Given the description of an element on the screen output the (x, y) to click on. 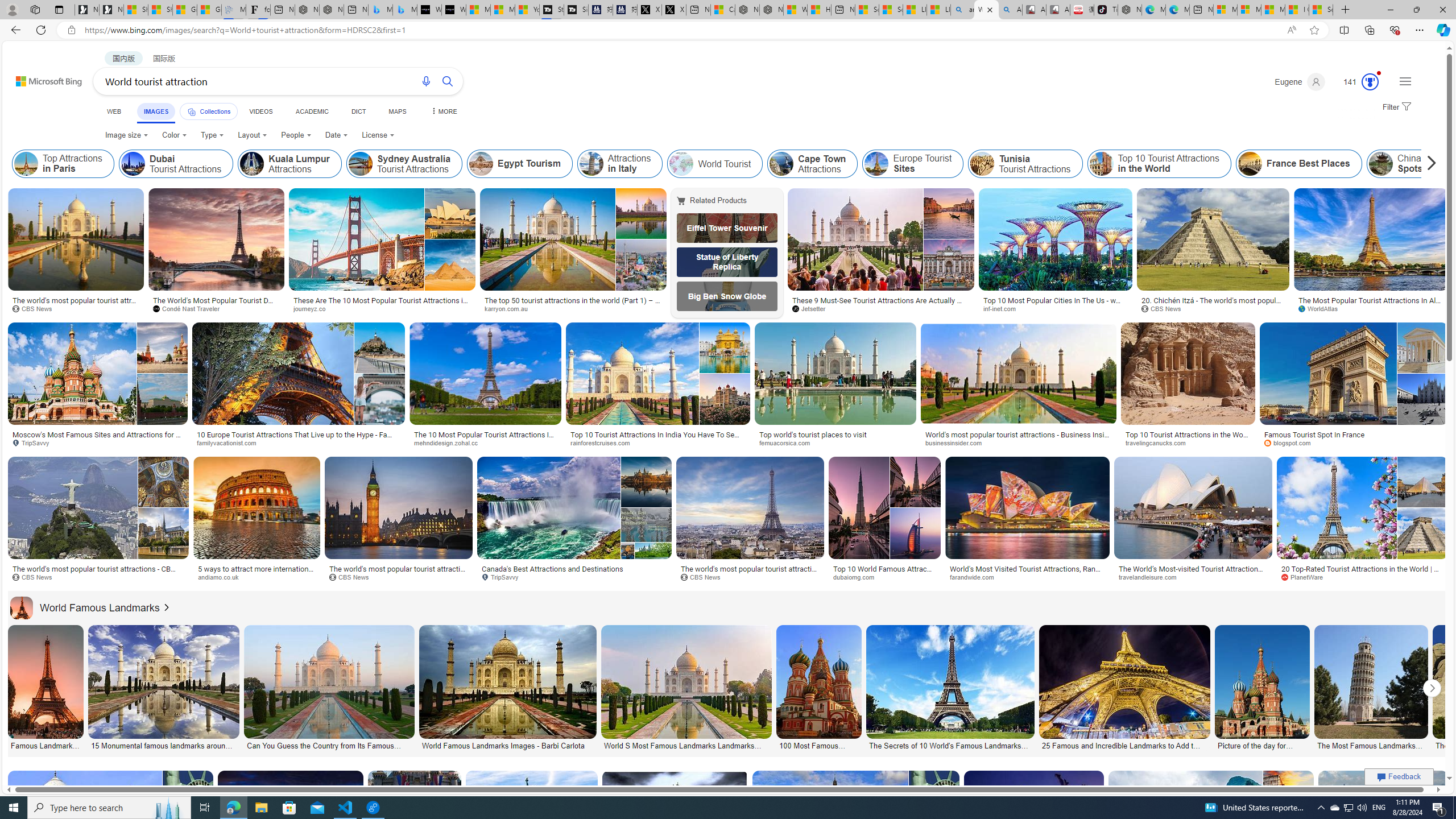
Eugene (1299, 81)
Date (336, 135)
Jetsetter (880, 308)
